Given the description of an element on the screen output the (x, y) to click on. 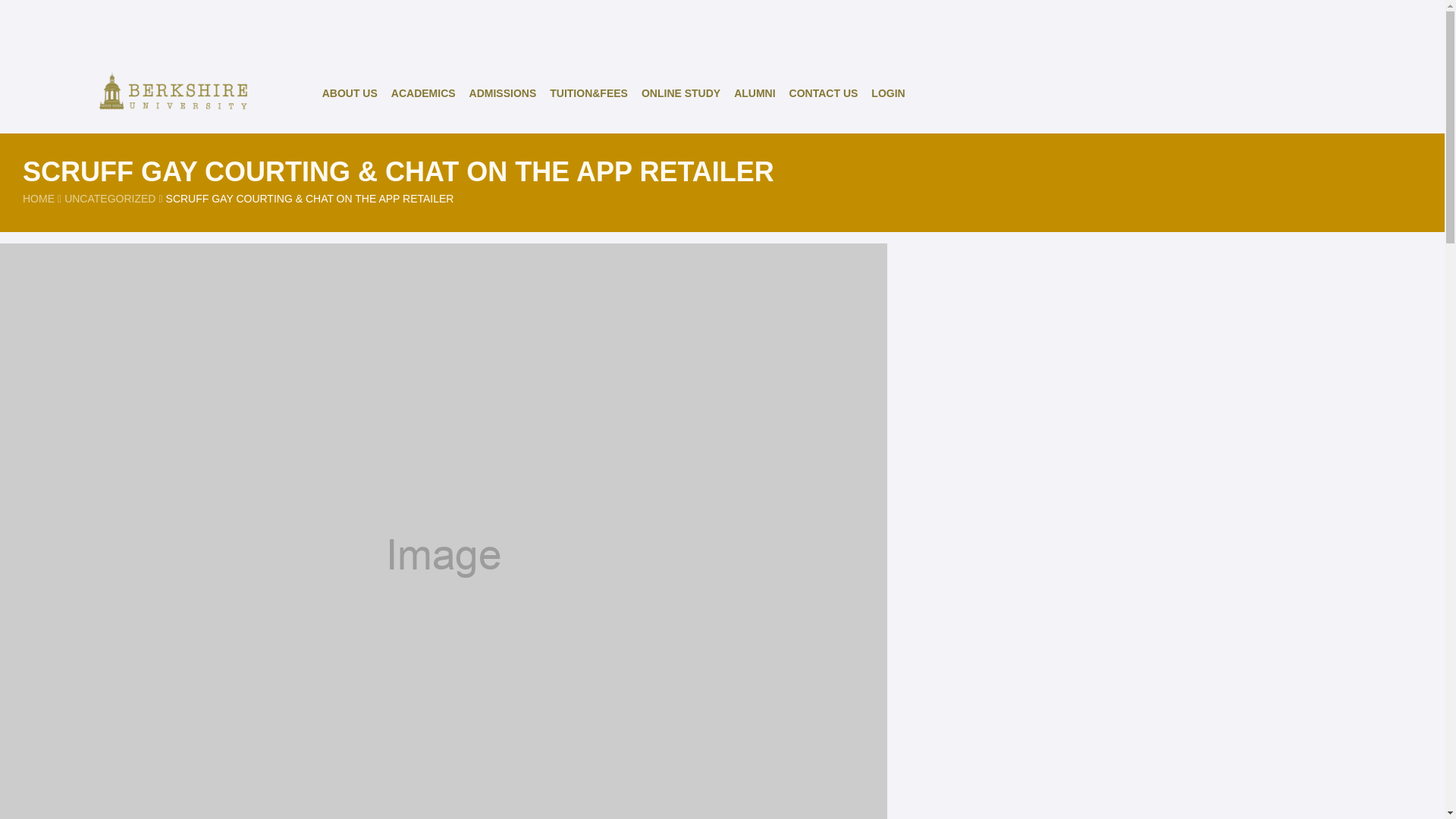
ABOUT US (349, 92)
ACADEMICS (423, 92)
BerkShire (168, 93)
